Given the description of an element on the screen output the (x, y) to click on. 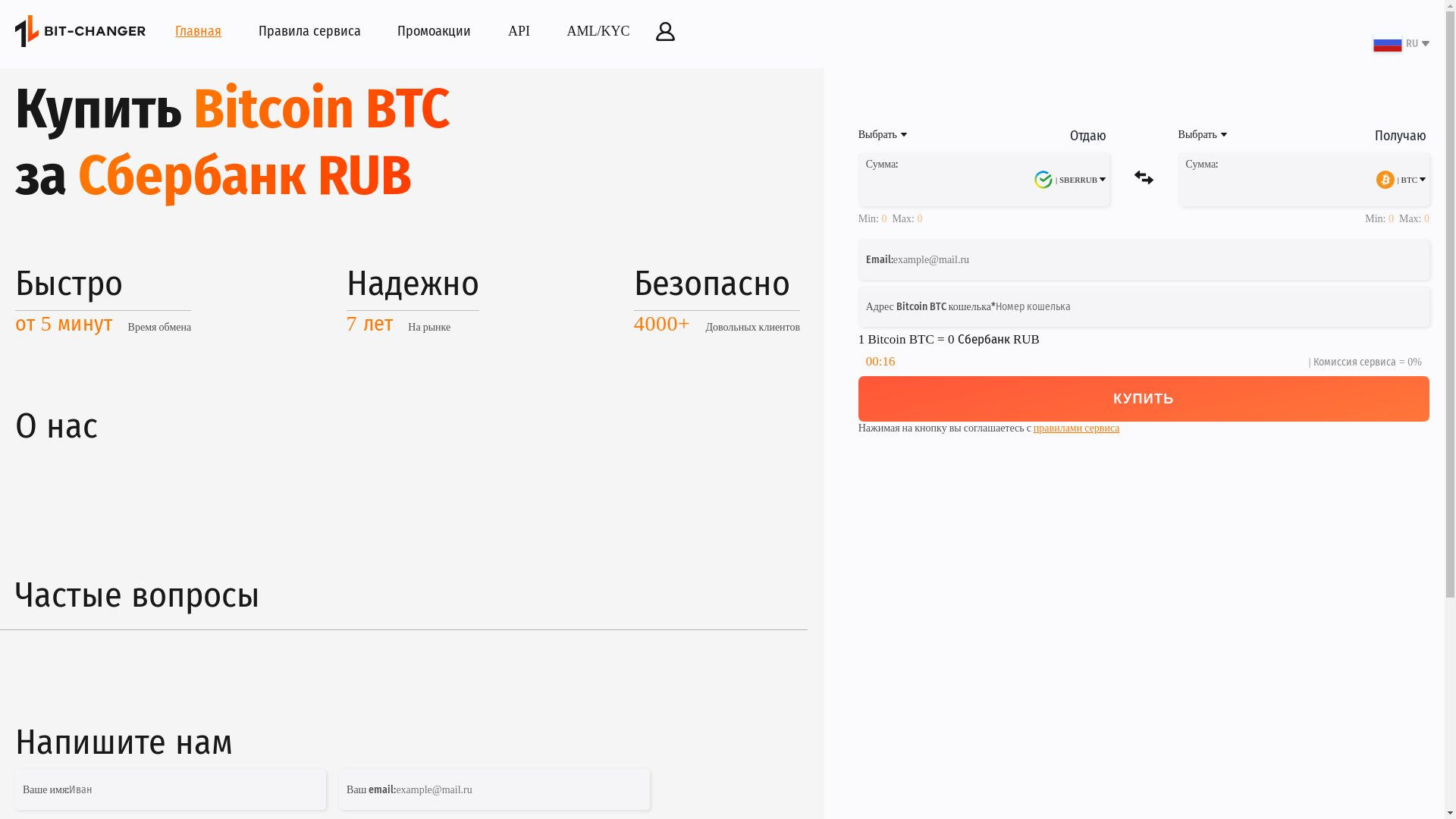
AML/KYC Element type: text (598, 30)
API Element type: text (519, 30)
